Given the description of an element on the screen output the (x, y) to click on. 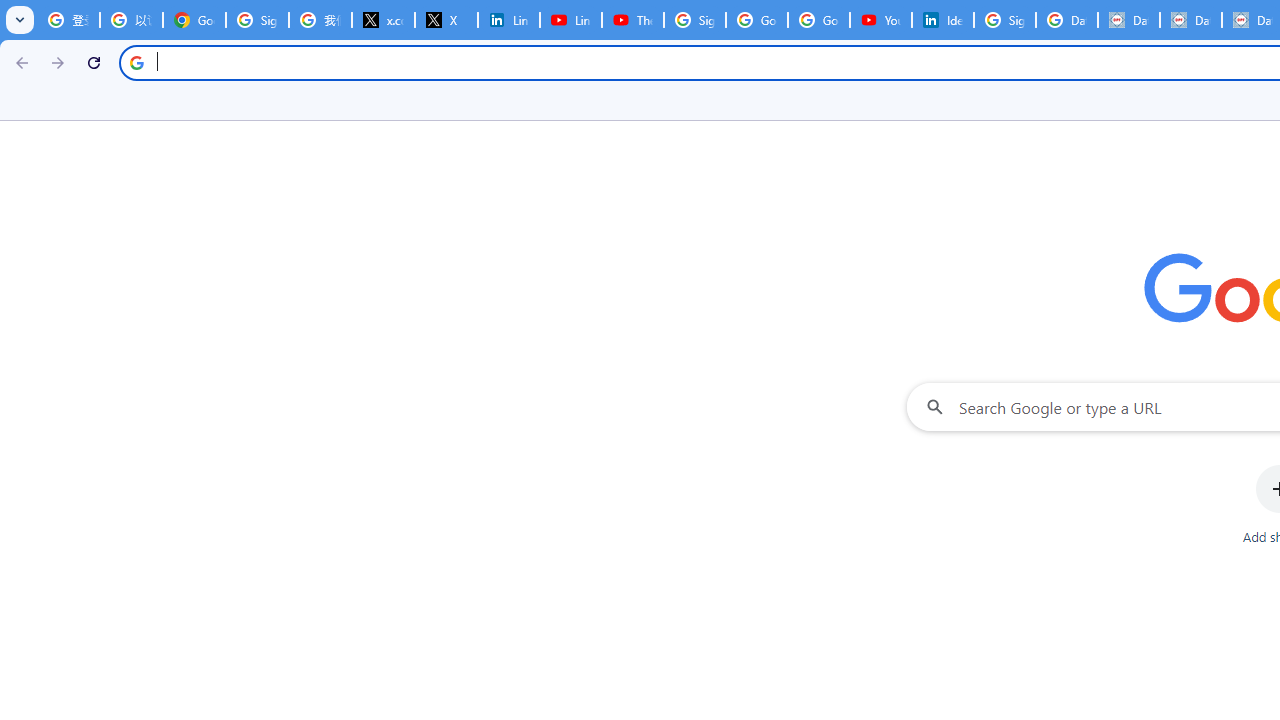
Sign in - Google Accounts (257, 20)
X (445, 20)
LinkedIn - YouTube (570, 20)
Data Privacy Framework (1190, 20)
Sign in - Google Accounts (694, 20)
